Given the description of an element on the screen output the (x, y) to click on. 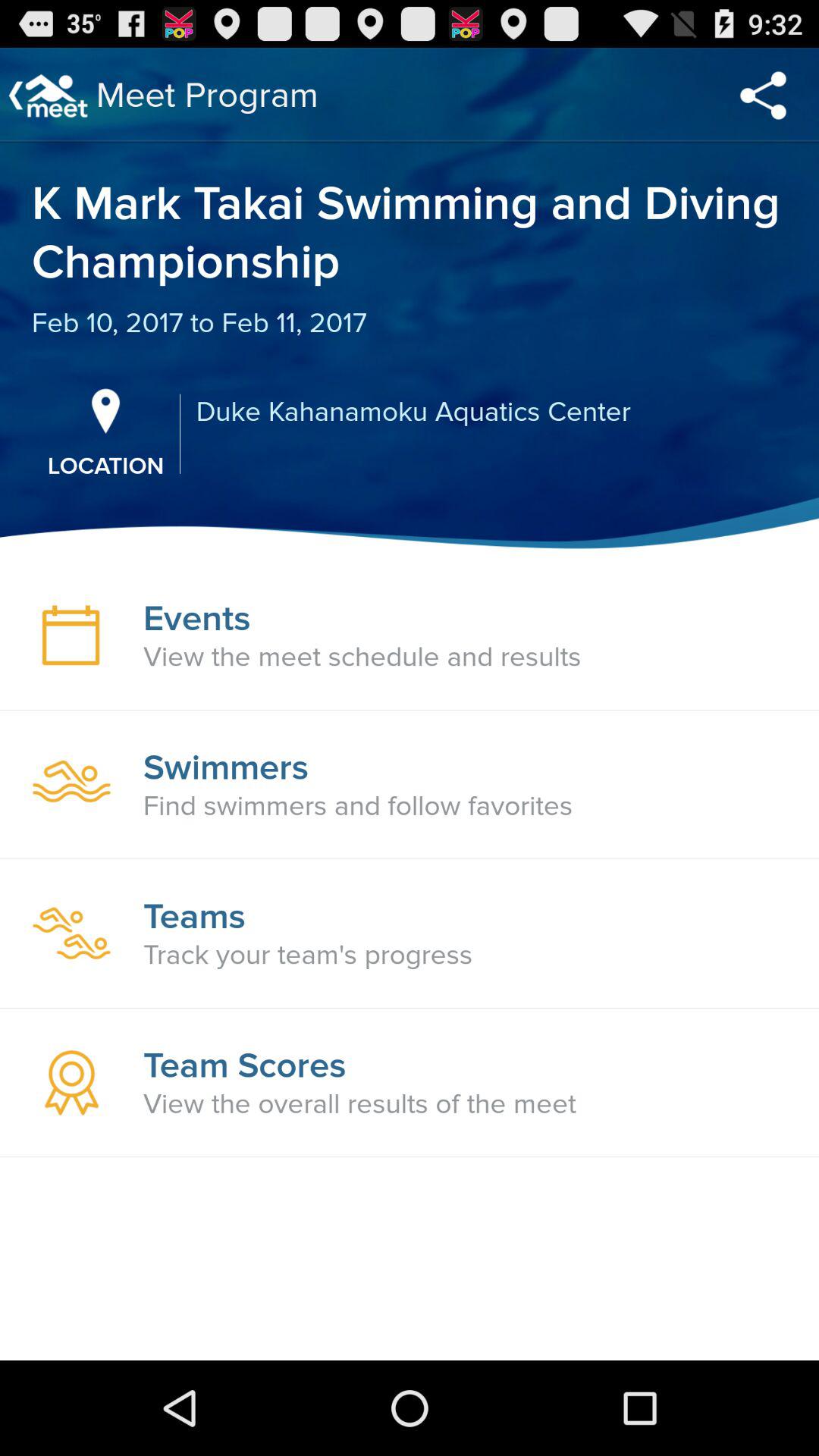
press icon above the view the overall (244, 1065)
